Given the description of an element on the screen output the (x, y) to click on. 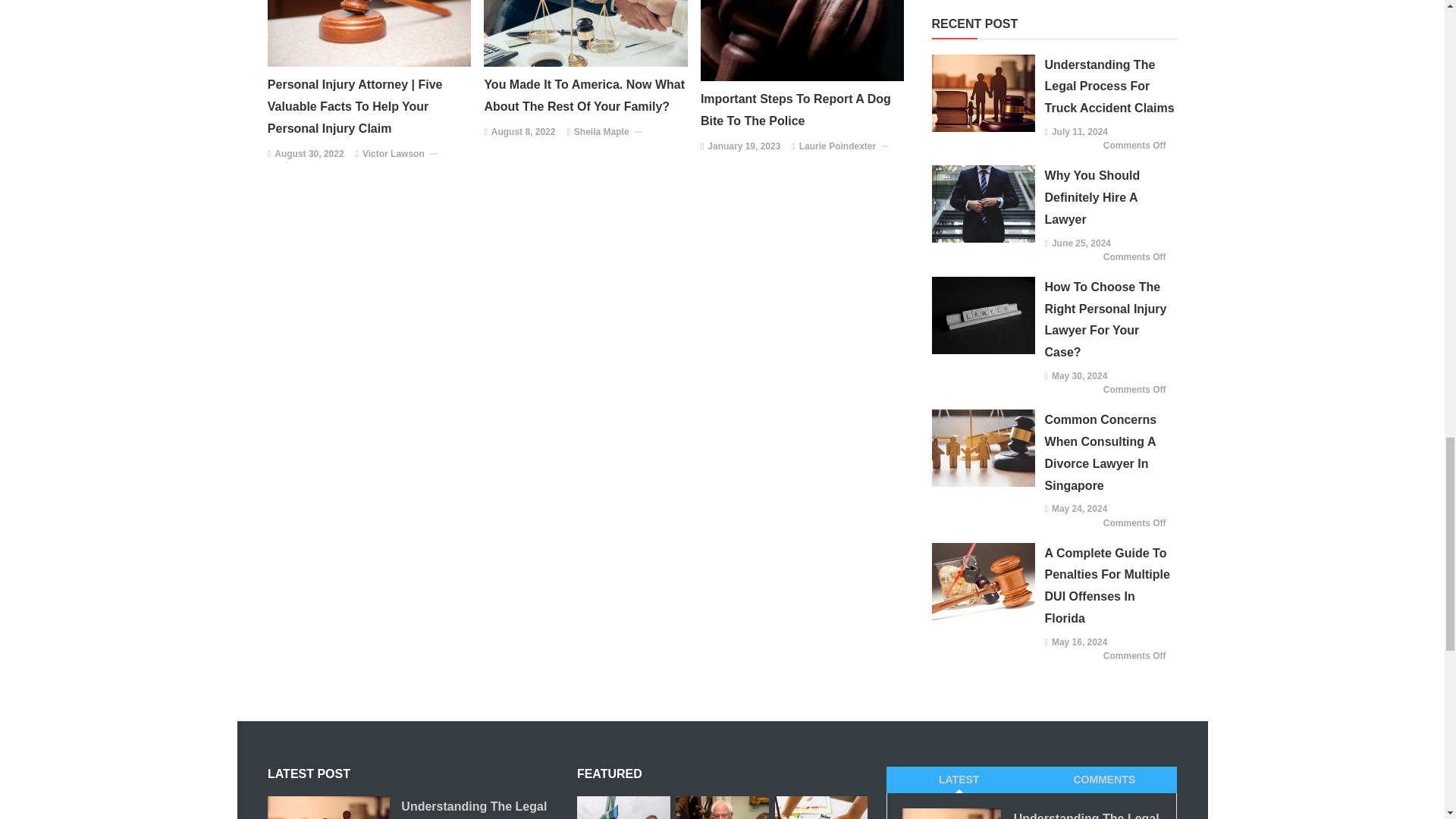
January 19, 2023 (743, 146)
Sheila Maple (600, 132)
Victor Lawson (393, 154)
August 8, 2022 (524, 132)
Laurie Poindexter (837, 146)
August 30, 2022 (309, 154)
Important Steps To Report A Dog Bite To The Police (802, 110)
